Given the description of an element on the screen output the (x, y) to click on. 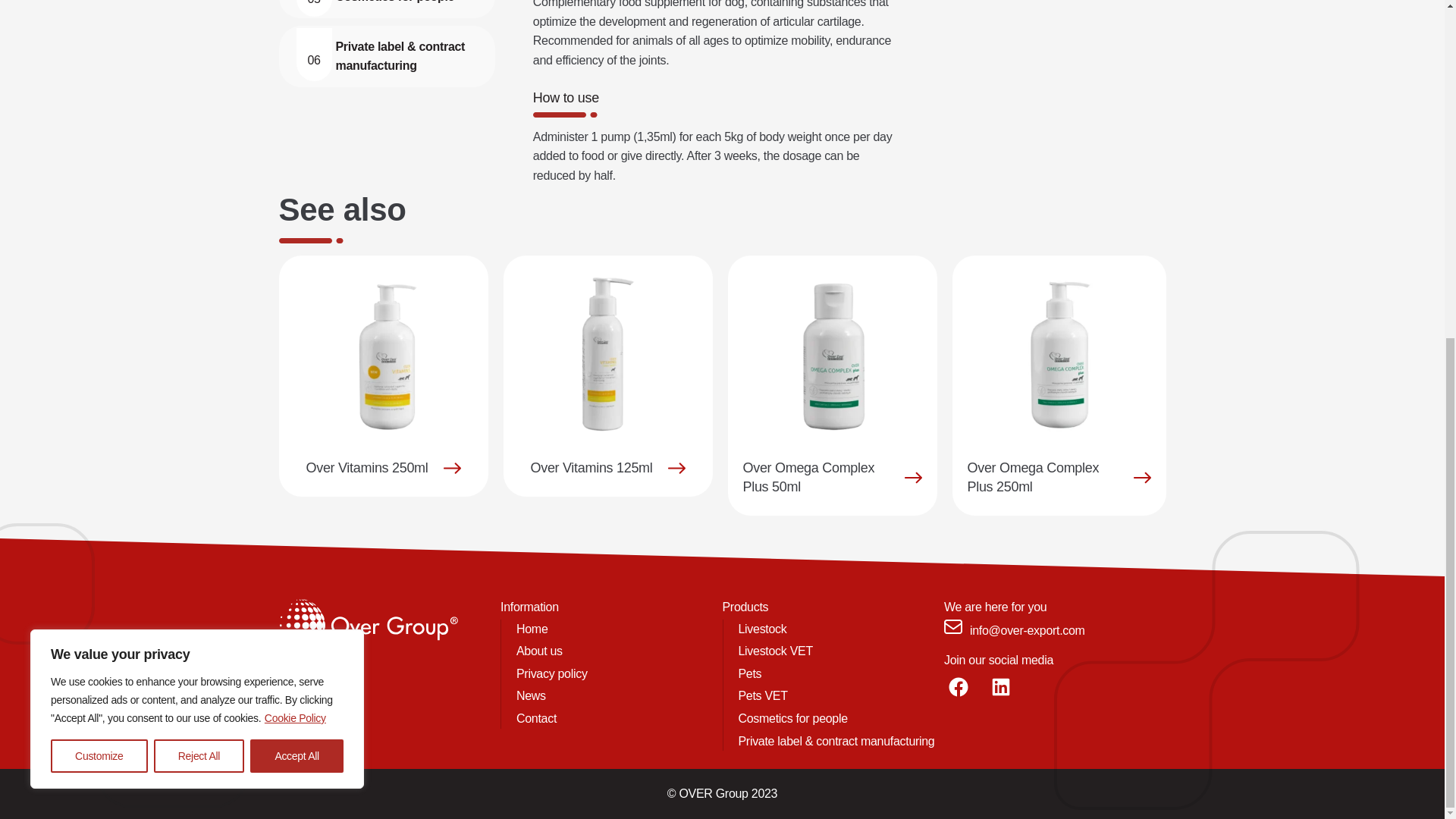
Cookie Policy (294, 147)
Reject All (199, 185)
Accept All (296, 185)
Customize (99, 185)
